Given the description of an element on the screen output the (x, y) to click on. 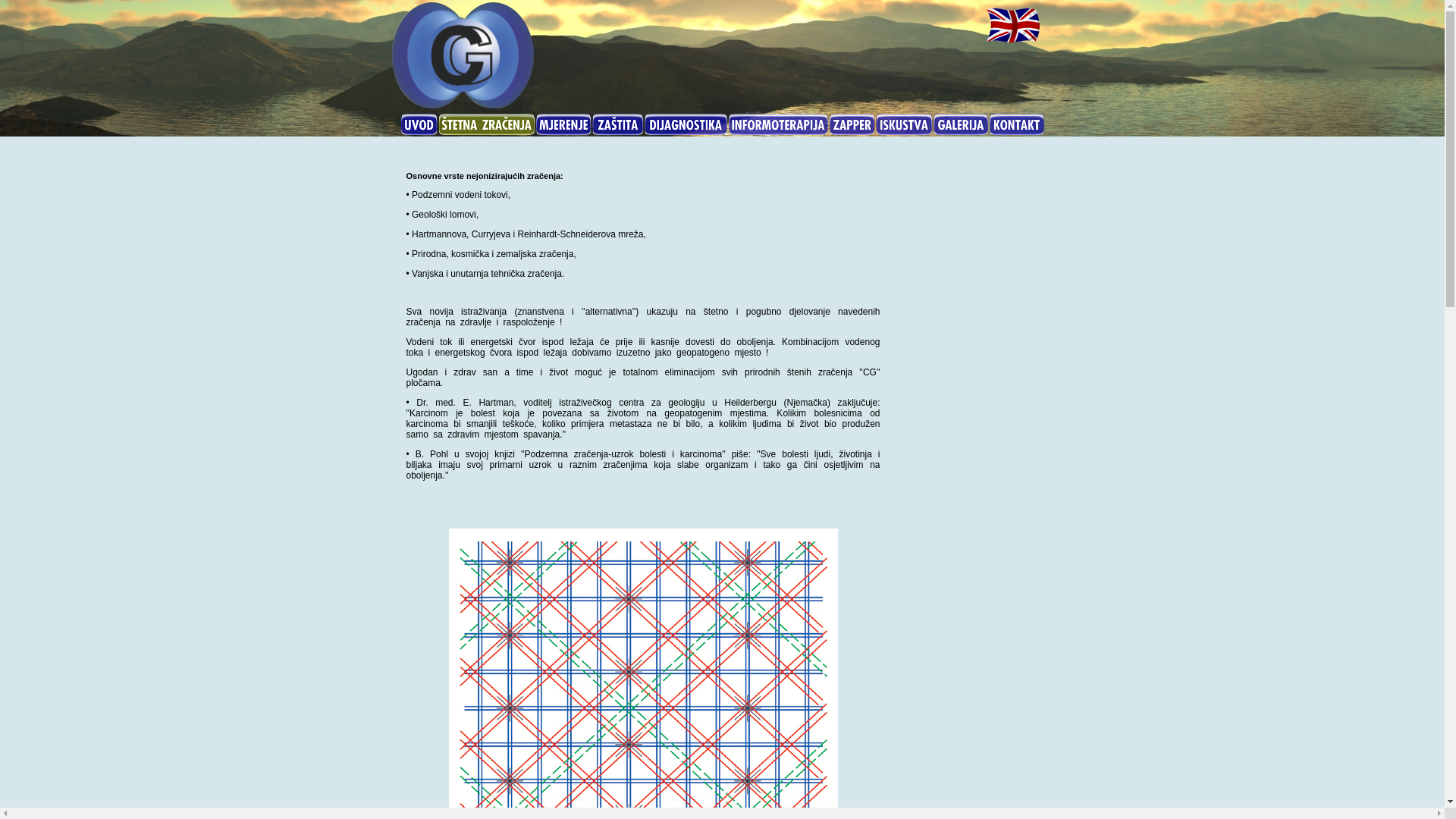
Informoterapija Element type: text (778, 123)
Dijagnostika Element type: text (685, 123)
Iskustva Element type: text (903, 123)
Zapper Element type: text (851, 123)
Mjerenje Element type: text (563, 123)
Galerija Element type: text (960, 123)
Kontakt Element type: text (1016, 123)
Home Element type: text (419, 123)
